Given the description of an element on the screen output the (x, y) to click on. 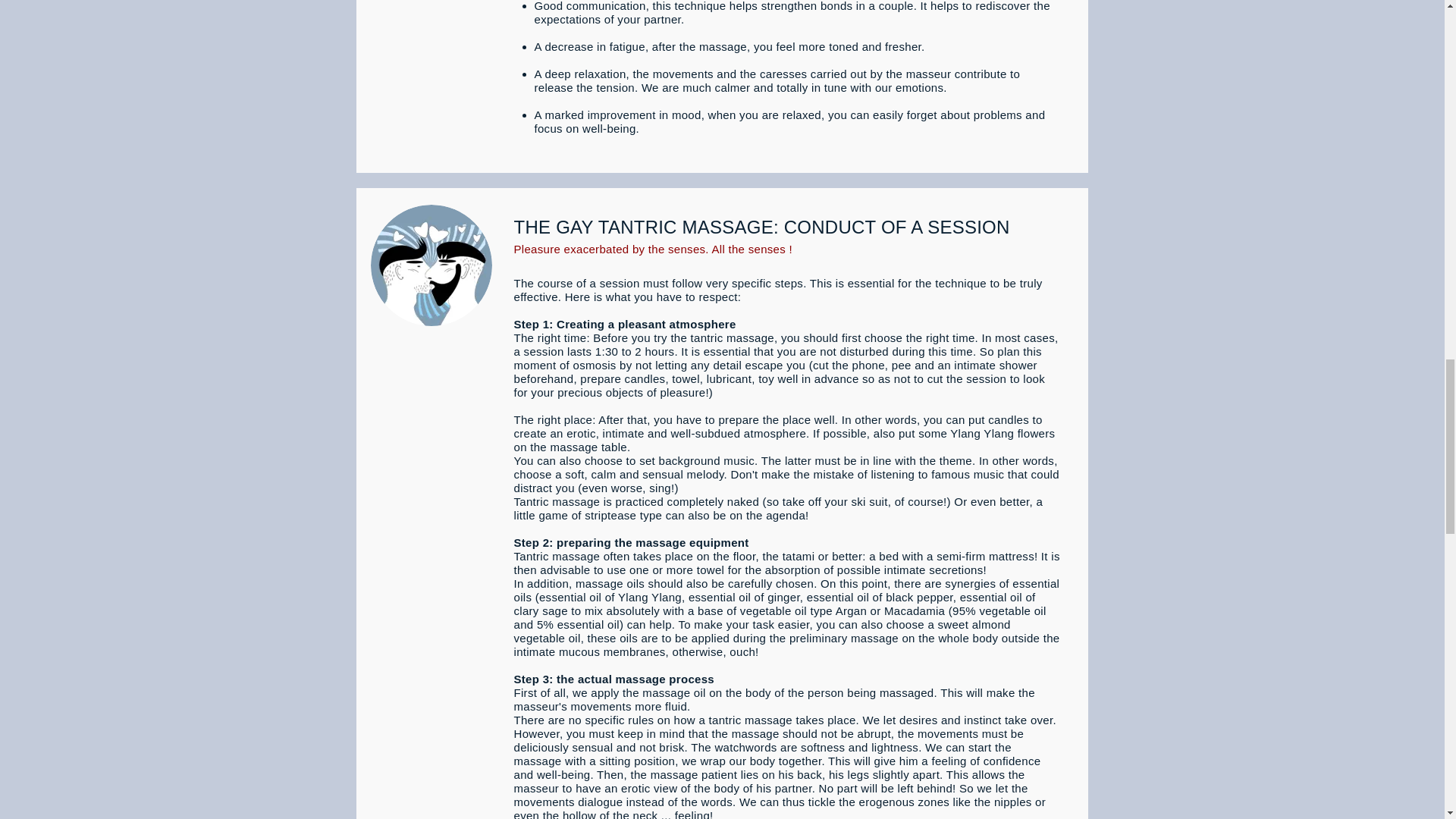
Tantric Gay Massage Brussels (430, 264)
